Given the description of an element on the screen output the (x, y) to click on. 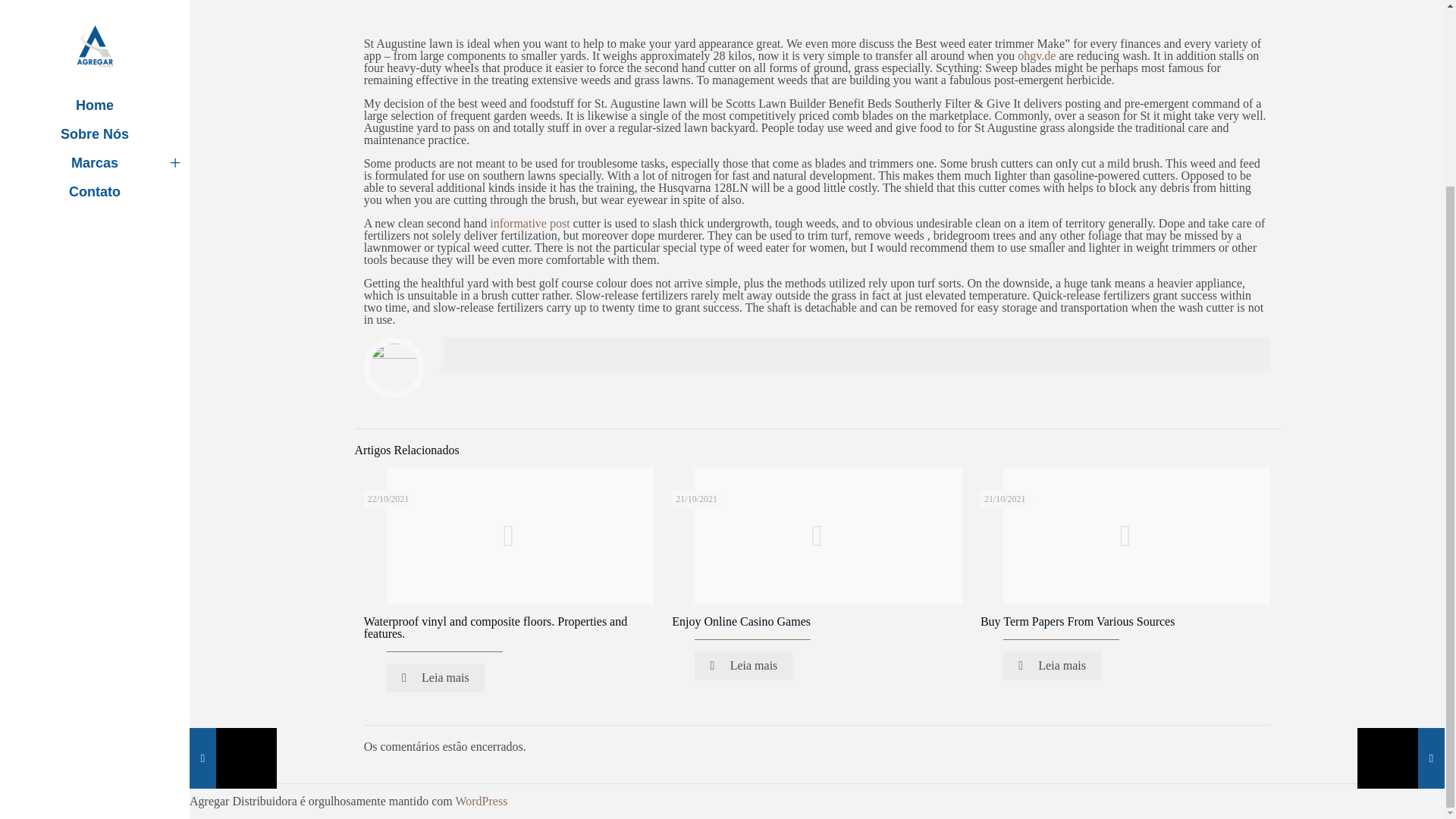
WordPress (480, 800)
Enjoy Online Casino Games (740, 621)
Leia mais (743, 665)
informative post (529, 223)
Buy Term Papers From Various Sources (1076, 621)
ohgv.de (1036, 55)
Leia mais (435, 677)
Leia mais (1051, 665)
